Given the description of an element on the screen output the (x, y) to click on. 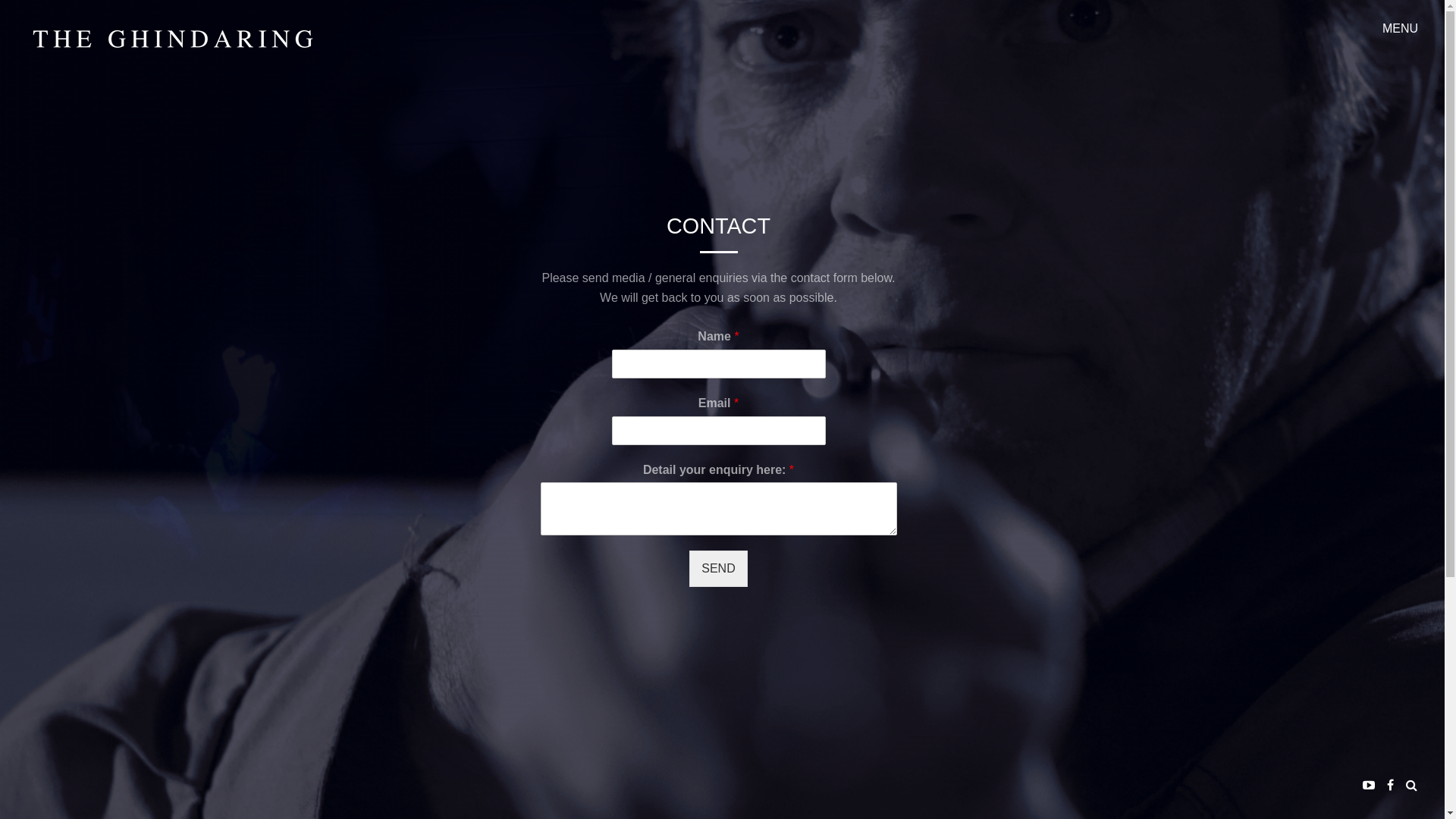
SEND Element type: text (717, 568)
